Given the description of an element on the screen output the (x, y) to click on. 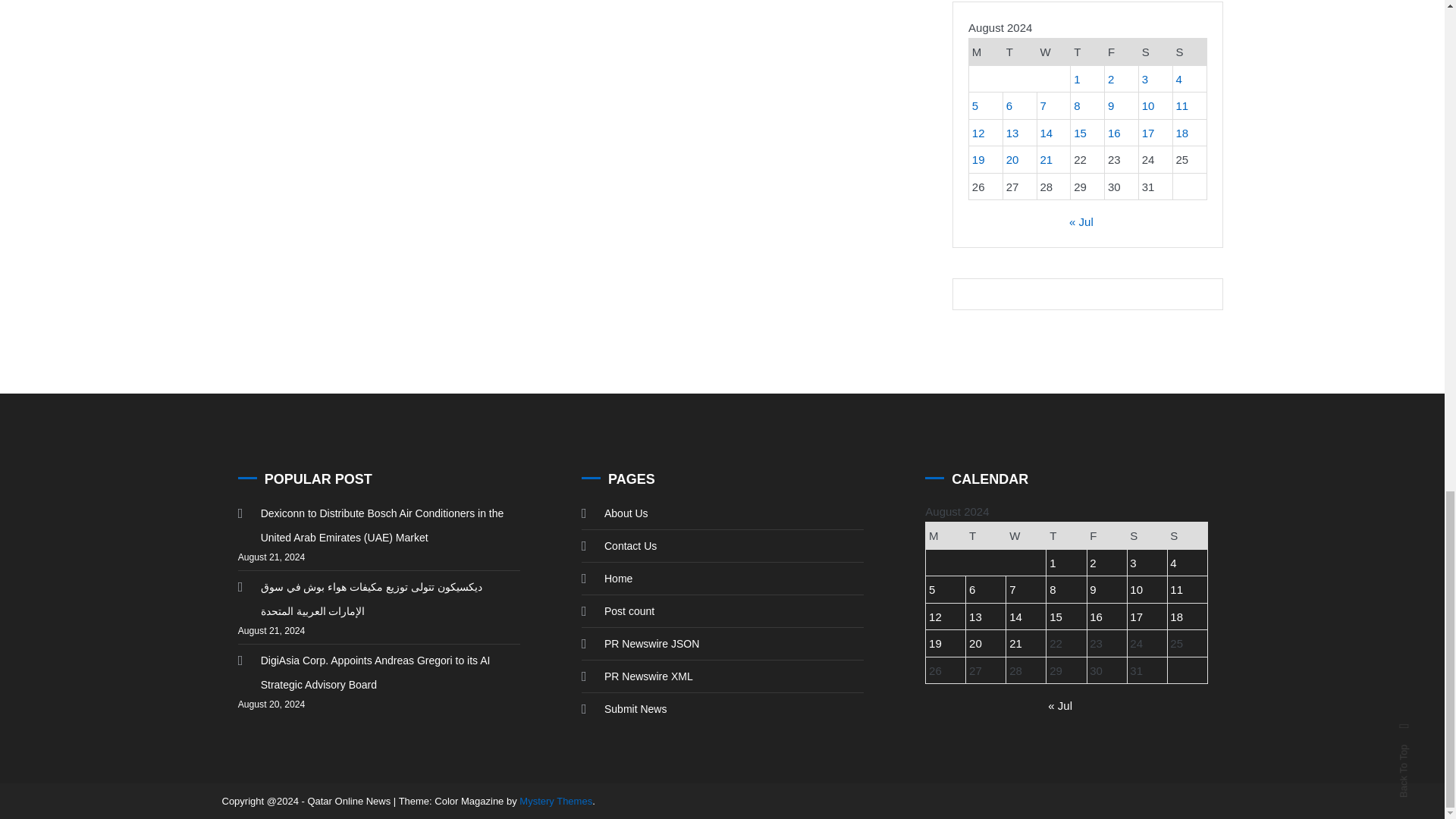
Tuesday (986, 535)
Sunday (1189, 52)
Wednesday (1026, 535)
Tuesday (1019, 52)
Sunday (1187, 535)
Monday (946, 535)
Thursday (1066, 535)
Saturday (1146, 535)
Monday (986, 52)
Wednesday (1053, 52)
